Given the description of an element on the screen output the (x, y) to click on. 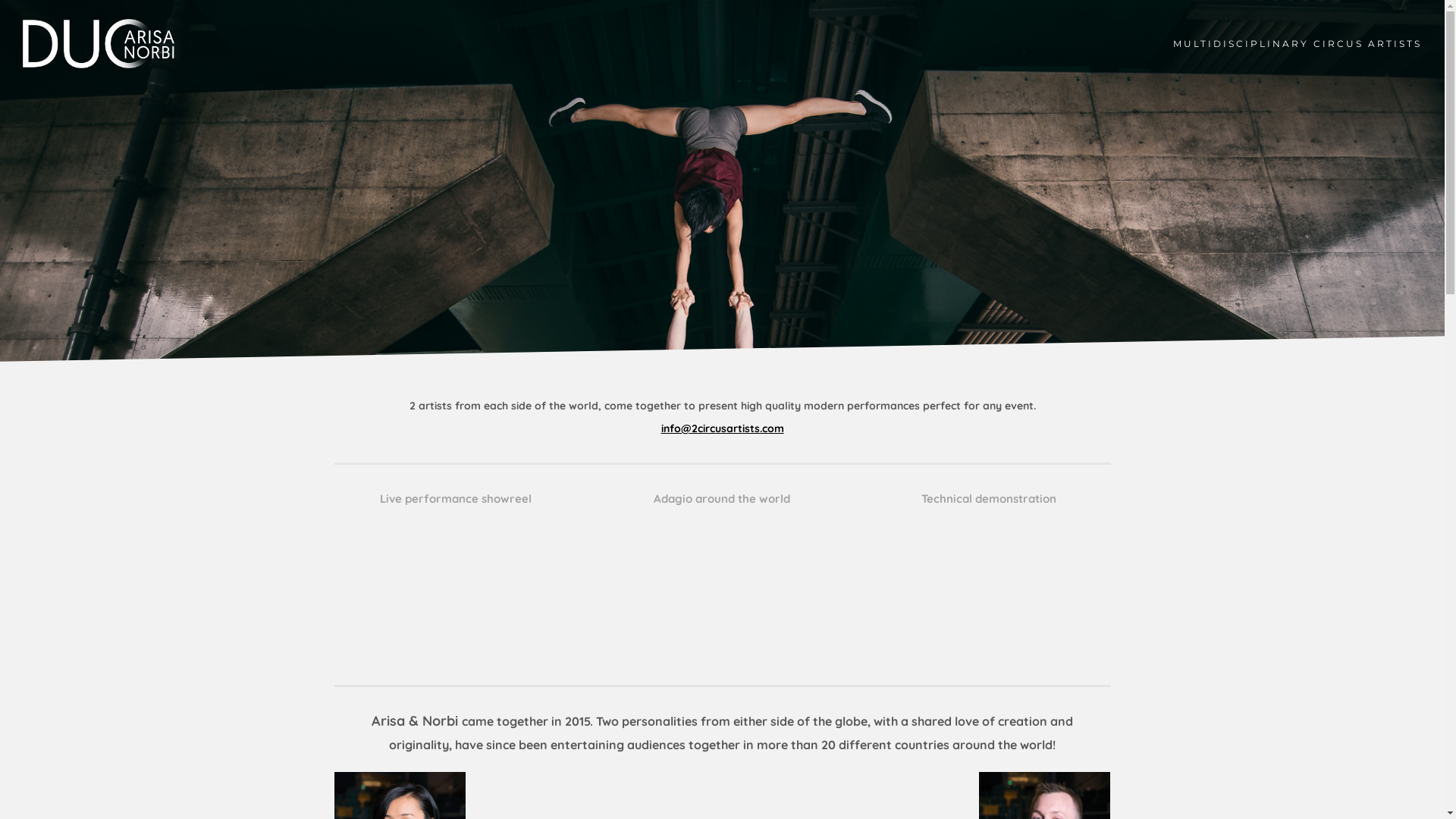
info@2circusartists.com Element type: text (722, 428)
Duo Arisa & Norbi Element type: hover (98, 43)
